Given the description of an element on the screen output the (x, y) to click on. 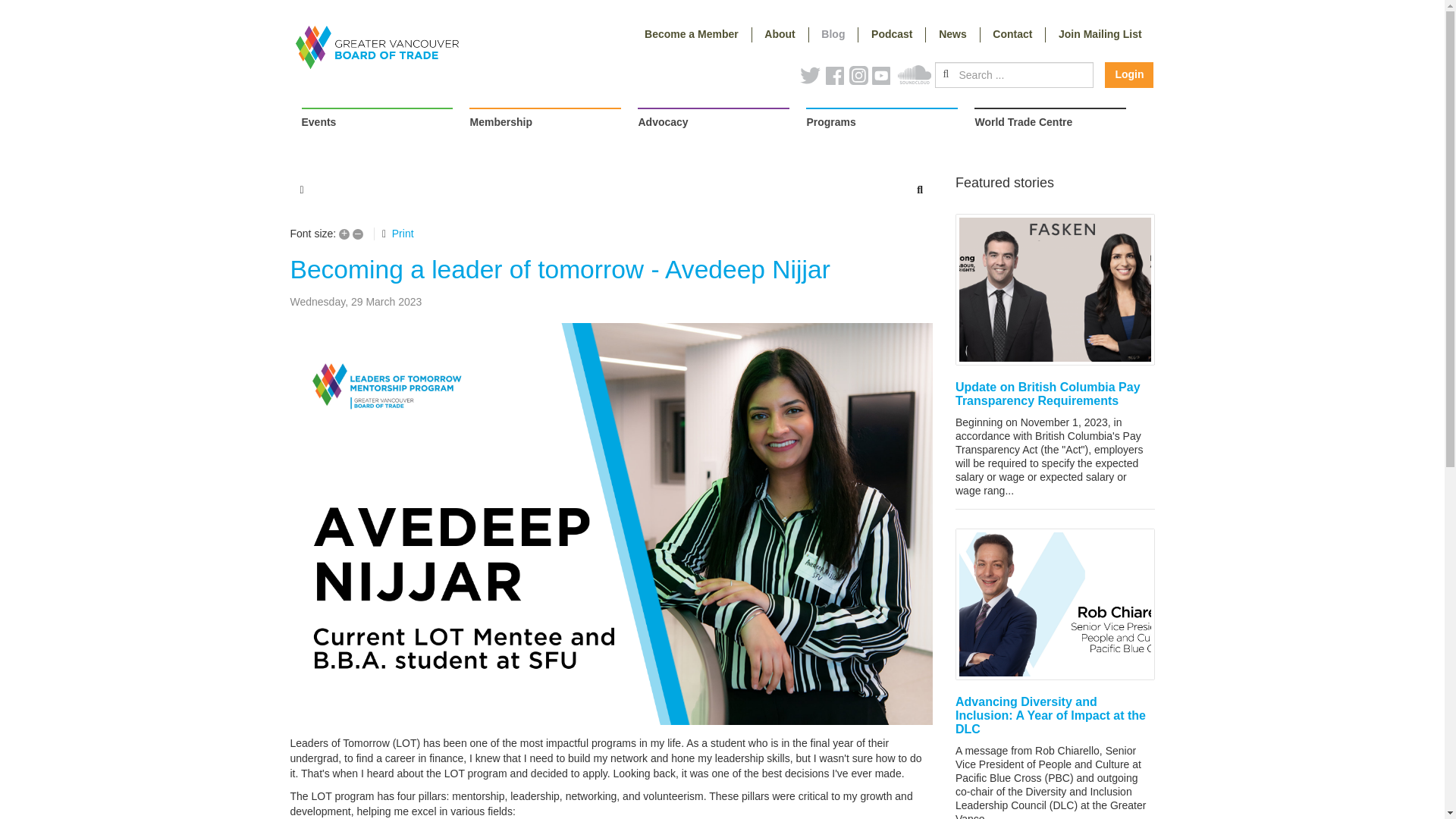
VBOT YouTube (885, 80)
Podcast (892, 34)
Join Mailing List (1099, 34)
News (952, 34)
Greater Vancouver Board of Trade (376, 46)
Print (402, 233)
Advocacy (713, 124)
Login (1128, 74)
Membership (544, 124)
Advancing-Diversity-and-Inclusion-Blog-Cover (1054, 604)
VBOT Twitter (812, 80)
Programs (882, 124)
About (780, 34)
